Given the description of an element on the screen output the (x, y) to click on. 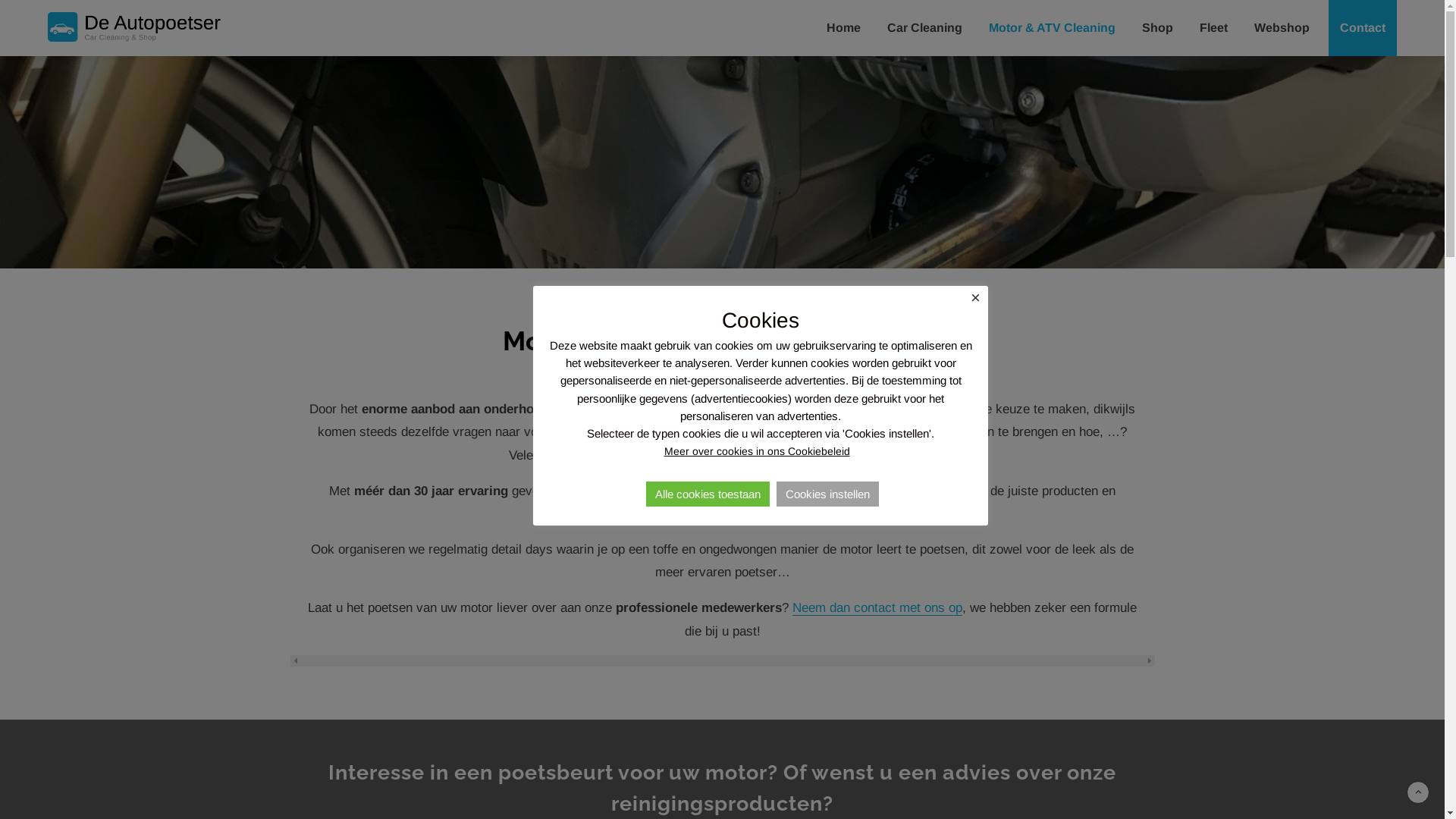
Alle cookies toestaan Element type: text (707, 493)
Motor & ATV Cleaning Element type: text (1053, 28)
Contact Element type: text (1362, 28)
Shop Element type: text (1159, 28)
Cookies instellen Element type: text (827, 493)
Neem dan contact met ons op Element type: text (877, 607)
Webshop Element type: text (1283, 28)
Car Cleaning Element type: text (926, 28)
Fleet Element type: text (1215, 28)
Home Element type: text (845, 28)
Meer over cookies in ons Cookiebeleid Element type: text (756, 447)
in onze shop Element type: text (616, 490)
